Given the description of an element on the screen output the (x, y) to click on. 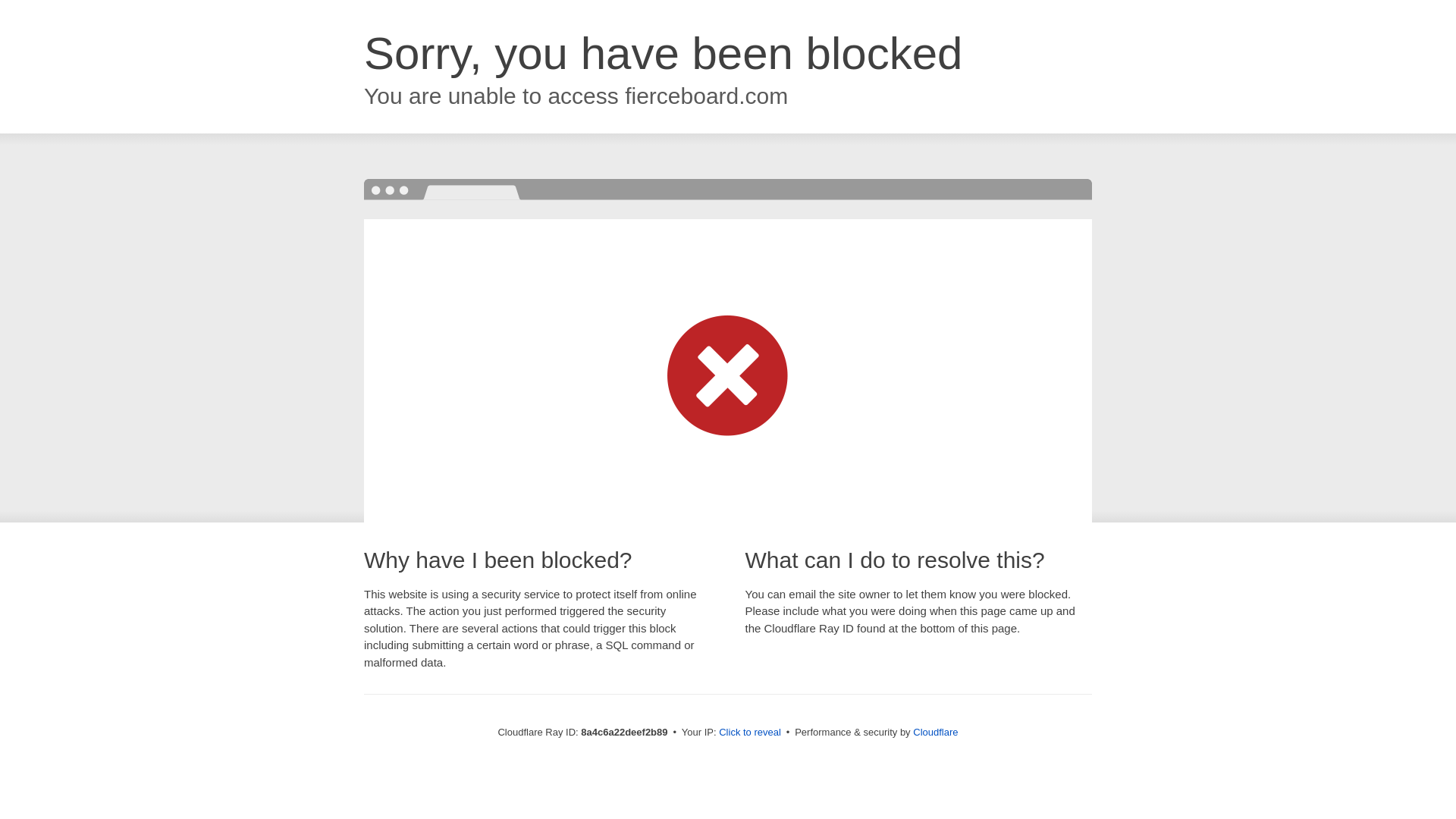
Click to reveal (749, 732)
Cloudflare (935, 731)
